Given the description of an element on the screen output the (x, y) to click on. 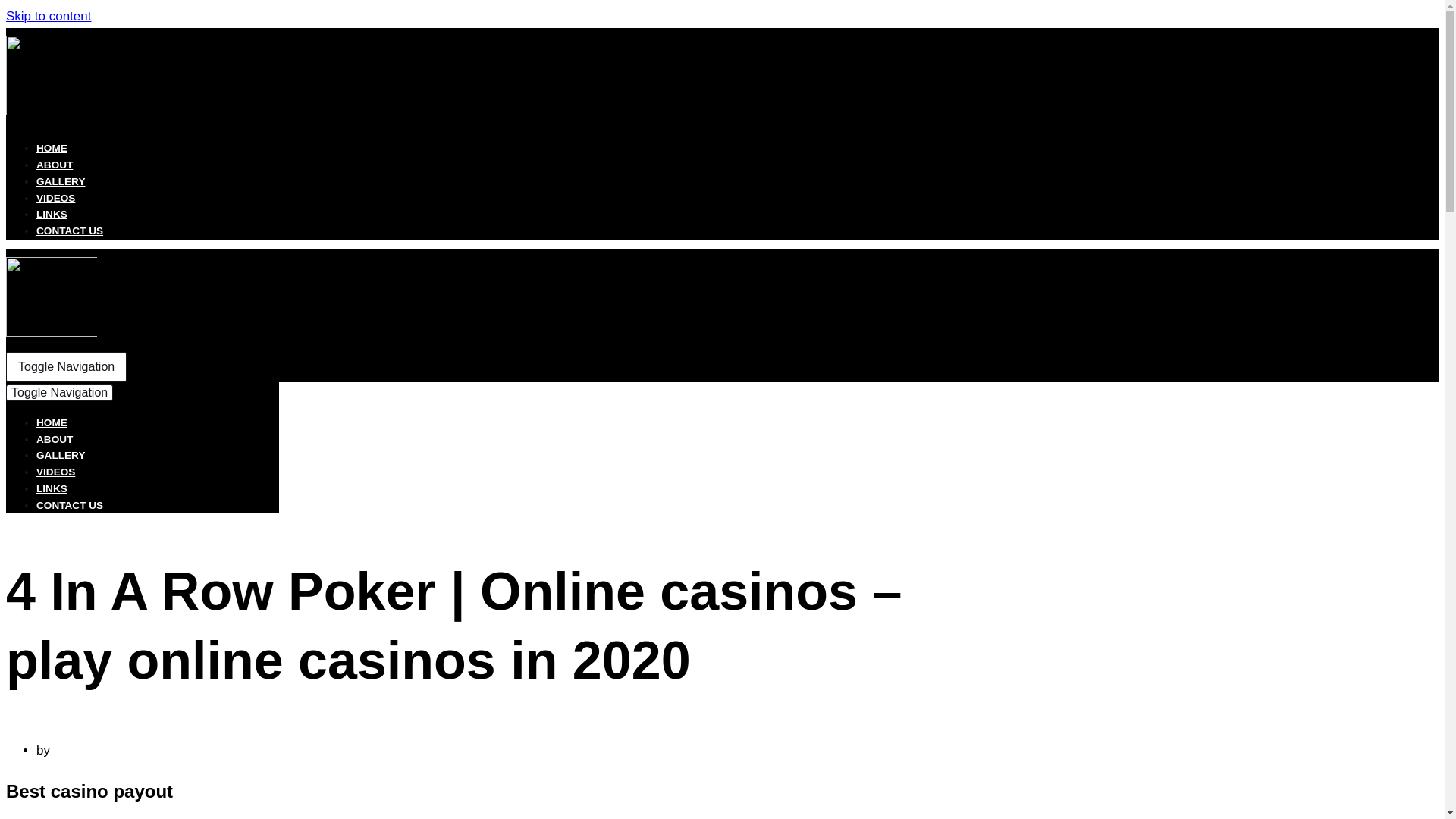
CONTACT US (69, 230)
LINKS (51, 214)
GGE Real Estate (51, 110)
VIDEOS (55, 471)
Toggle Navigation (65, 367)
ABOUT (54, 164)
LINKS (51, 488)
VIDEOS (55, 197)
ABOUT (54, 439)
GGE Real Estate (51, 332)
